Given the description of an element on the screen output the (x, y) to click on. 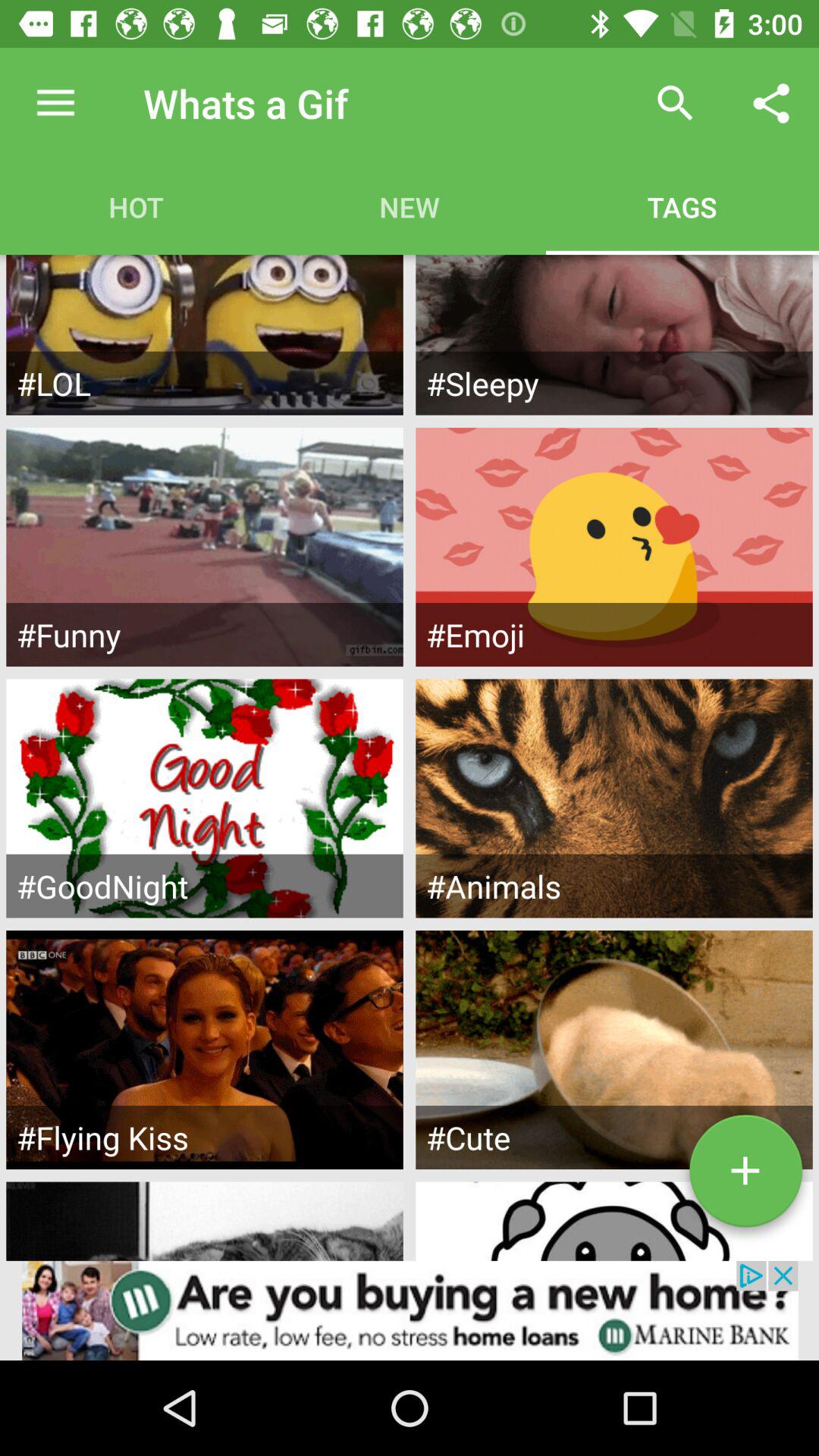
advertisement link (409, 1310)
